Given the description of an element on the screen output the (x, y) to click on. 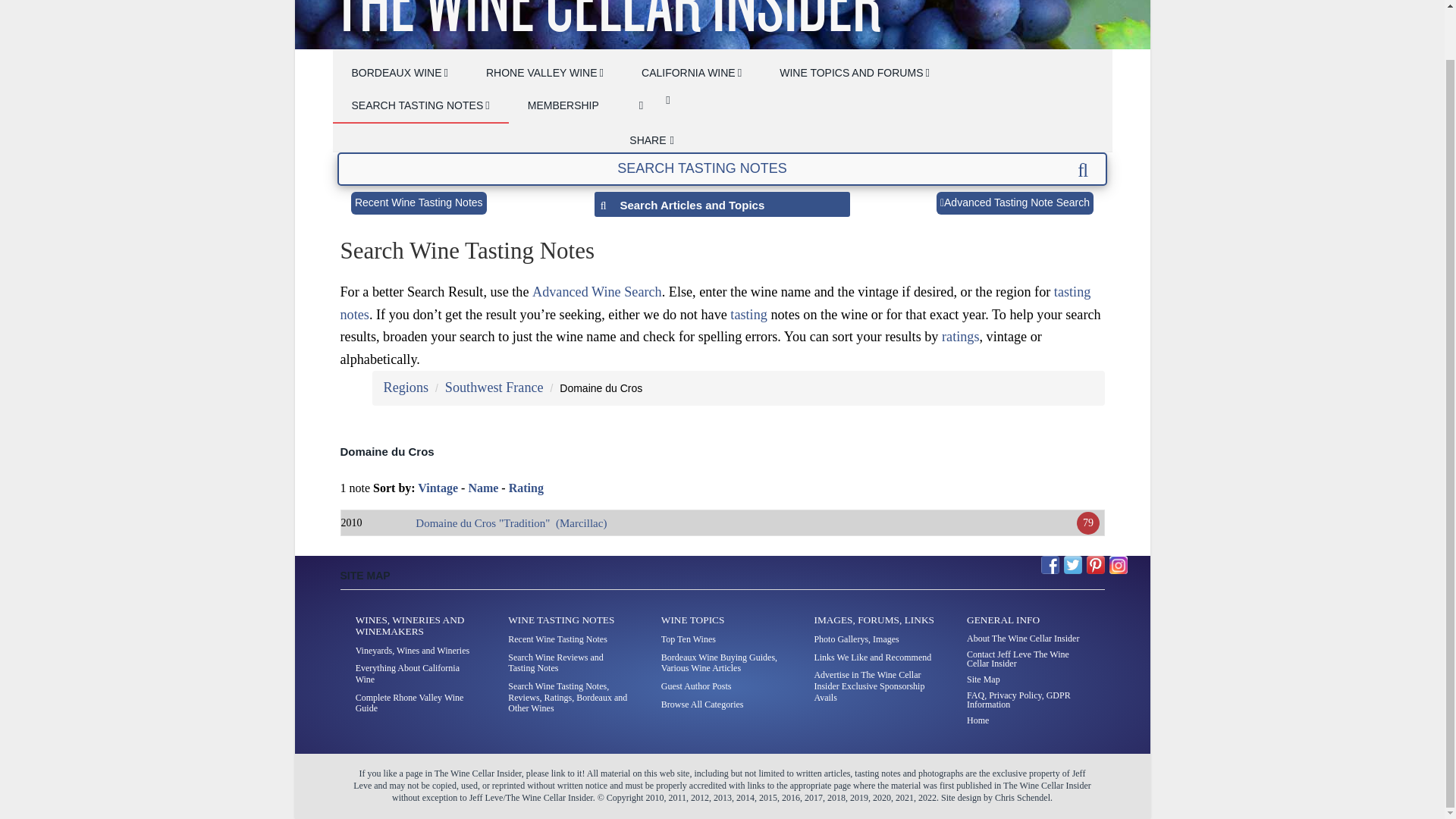
MEMBERSHIP (562, 106)
Advanced Tasting Note Search (1014, 202)
CALIFORNIA WINE (691, 73)
RHONE VALLEY WINE (545, 73)
SHARE (651, 139)
SEARCH TASTING NOTES (419, 106)
Recent Wine Tasting Notes (418, 202)
Follow us on Facebook (1050, 565)
BORDEAUX WINE (399, 73)
Our board on Pinterest (1094, 565)
